Given the description of an element on the screen output the (x, y) to click on. 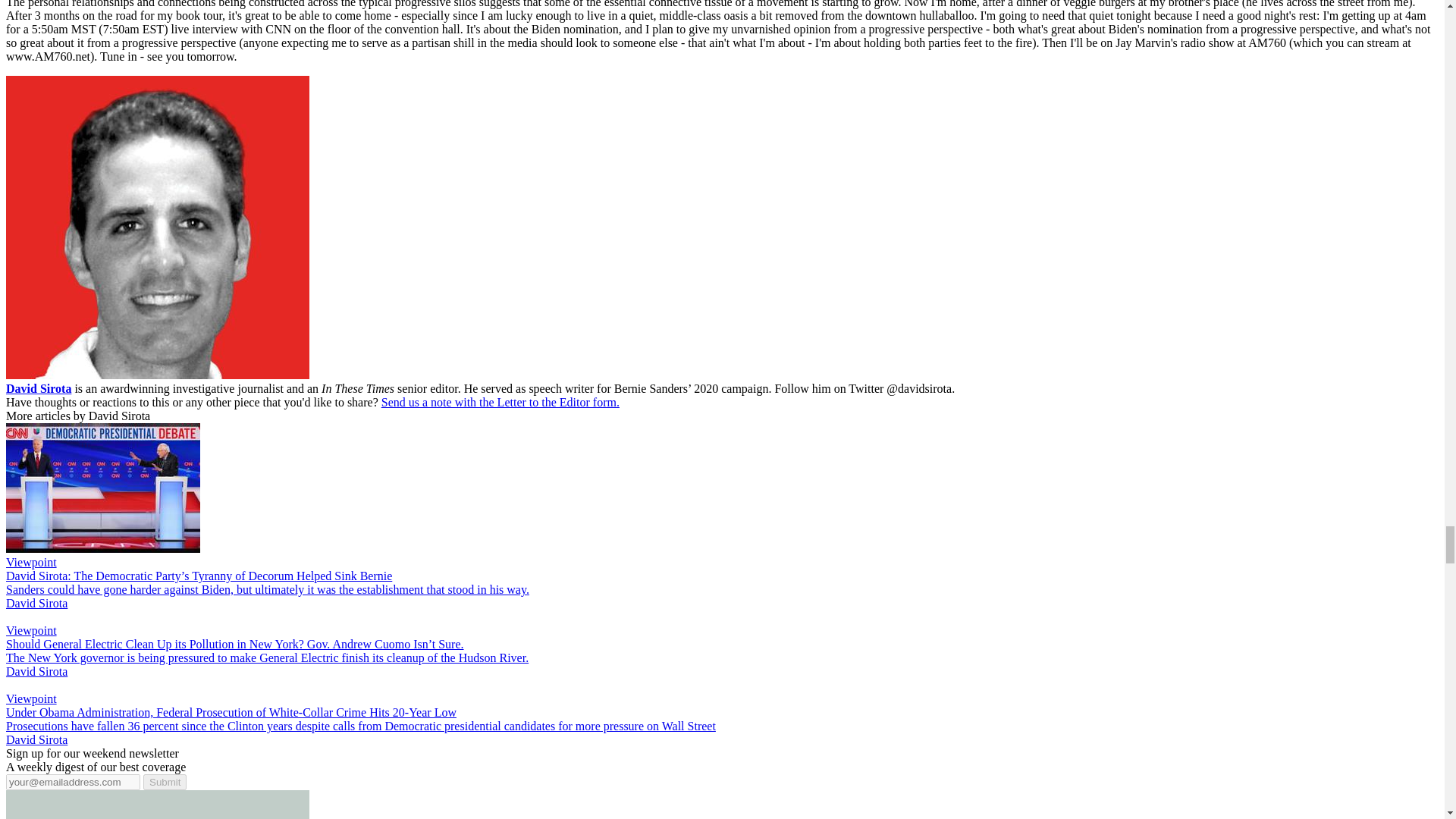
Submit (164, 781)
David Sirota (38, 388)
Send us a note with the Letter to the Editor form. (500, 401)
